Given the description of an element on the screen output the (x, y) to click on. 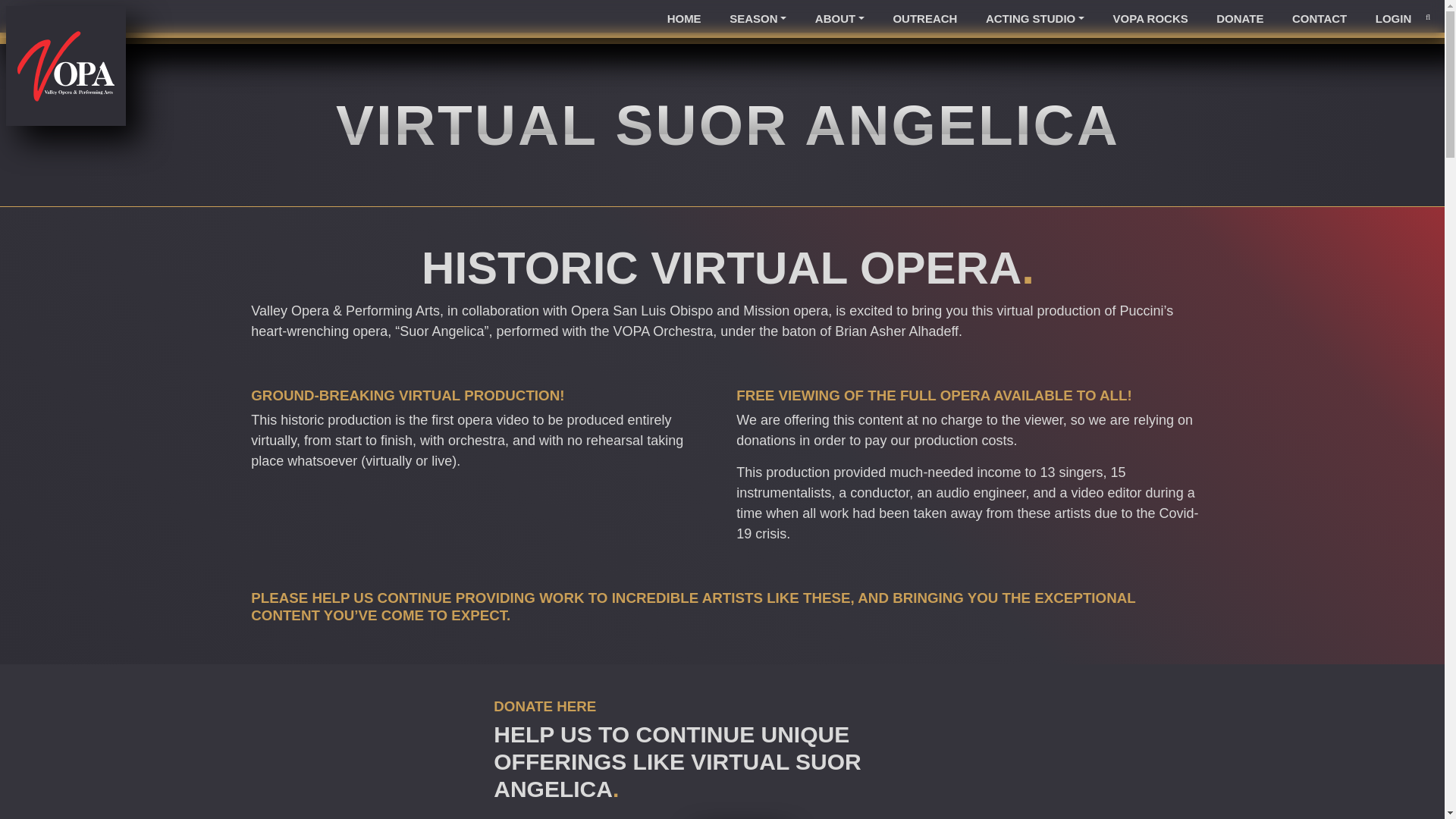
VOPA ROCKS (1149, 18)
ACTING STUDIO (1034, 18)
SEASON (757, 18)
LOGIN (1393, 18)
ABOUT (839, 18)
CONTACT (1319, 18)
DONATE (1240, 18)
OUTREACH (924, 18)
HOME (683, 18)
